Given the description of an element on the screen output the (x, y) to click on. 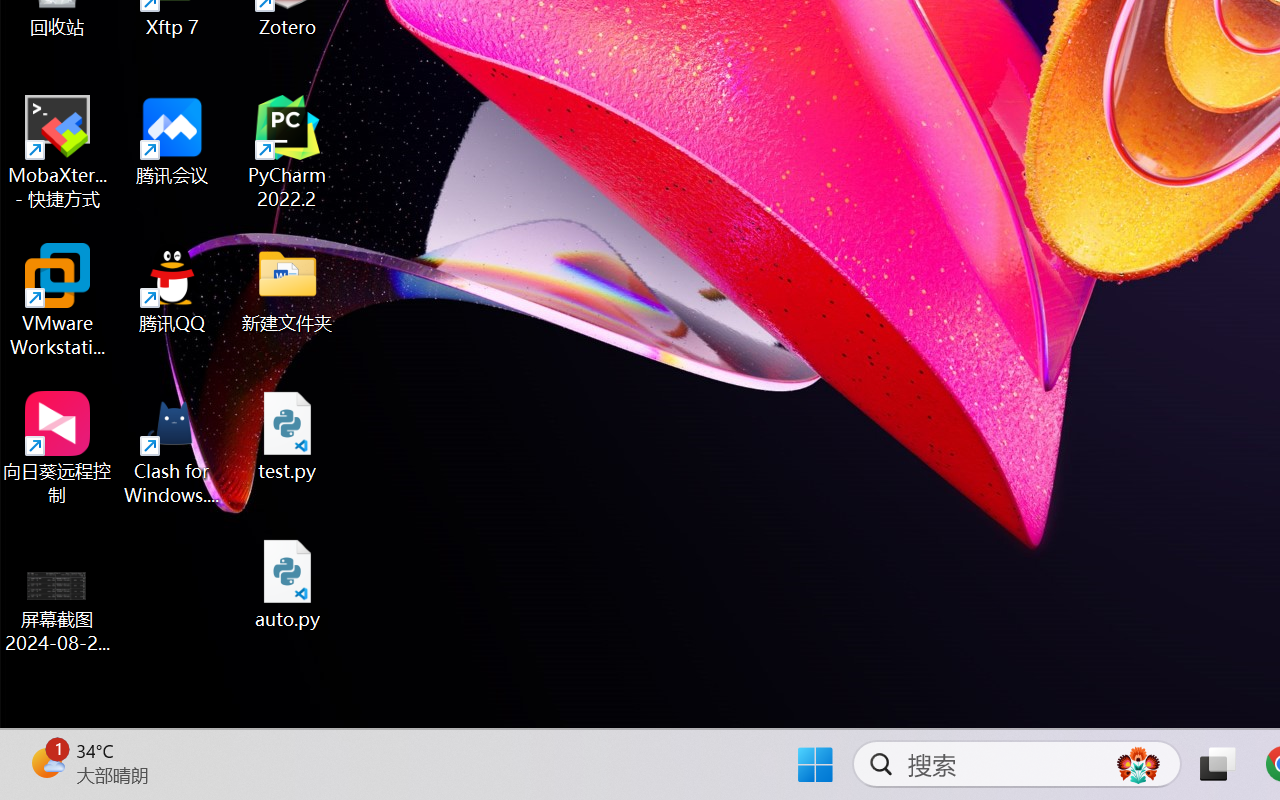
PyCharm 2022.2 (287, 152)
test.py (287, 436)
VMware Workstation Pro (57, 300)
